Given the description of an element on the screen output the (x, y) to click on. 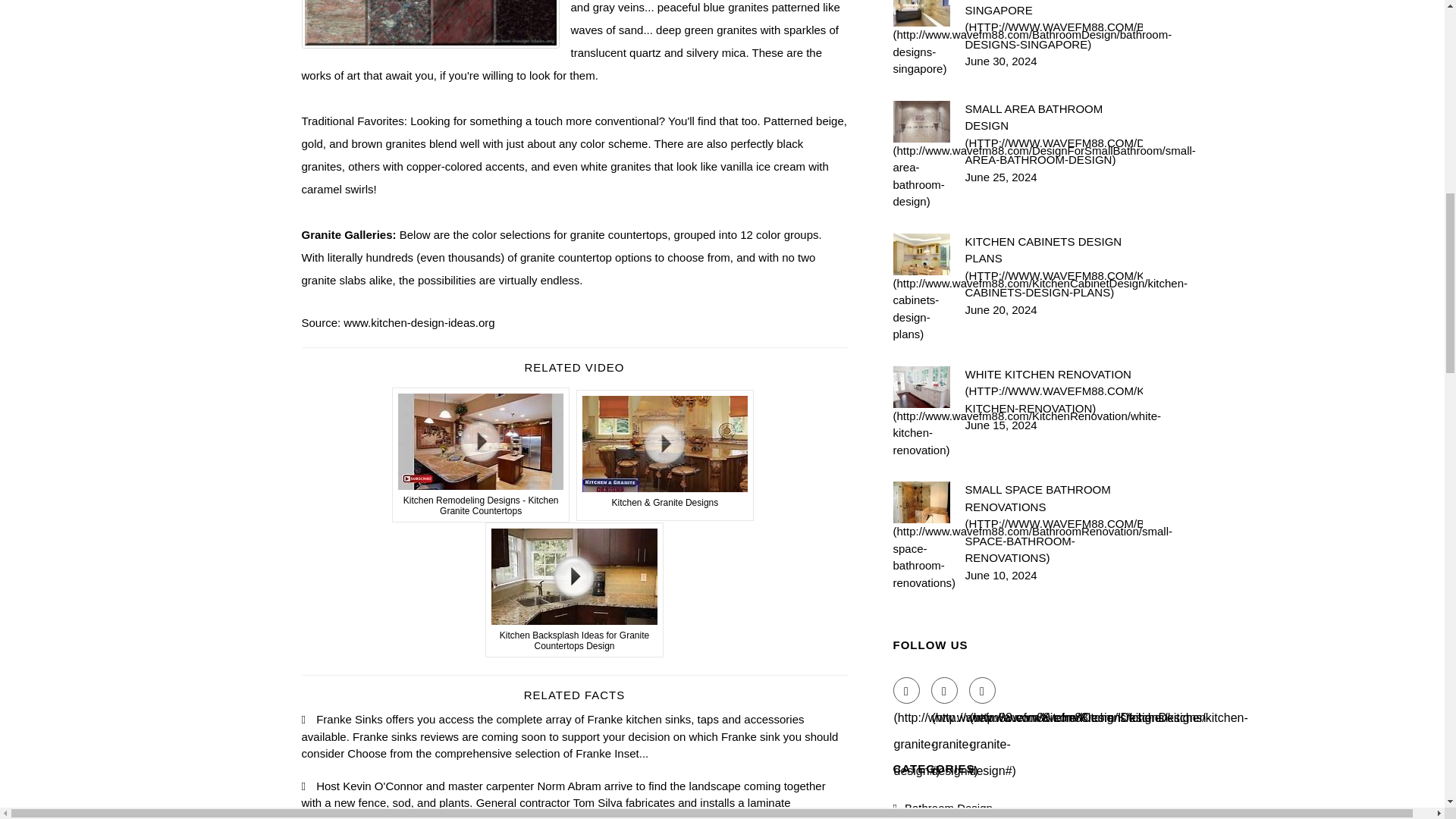
View all posts filed under Bathroom Design (1008, 810)
View this video from YouTube (573, 589)
View this video from YouTube (480, 454)
Facebook (906, 689)
Google Plus (982, 689)
View this video from YouTube (665, 454)
Twitter (944, 689)
